Given the description of an element on the screen output the (x, y) to click on. 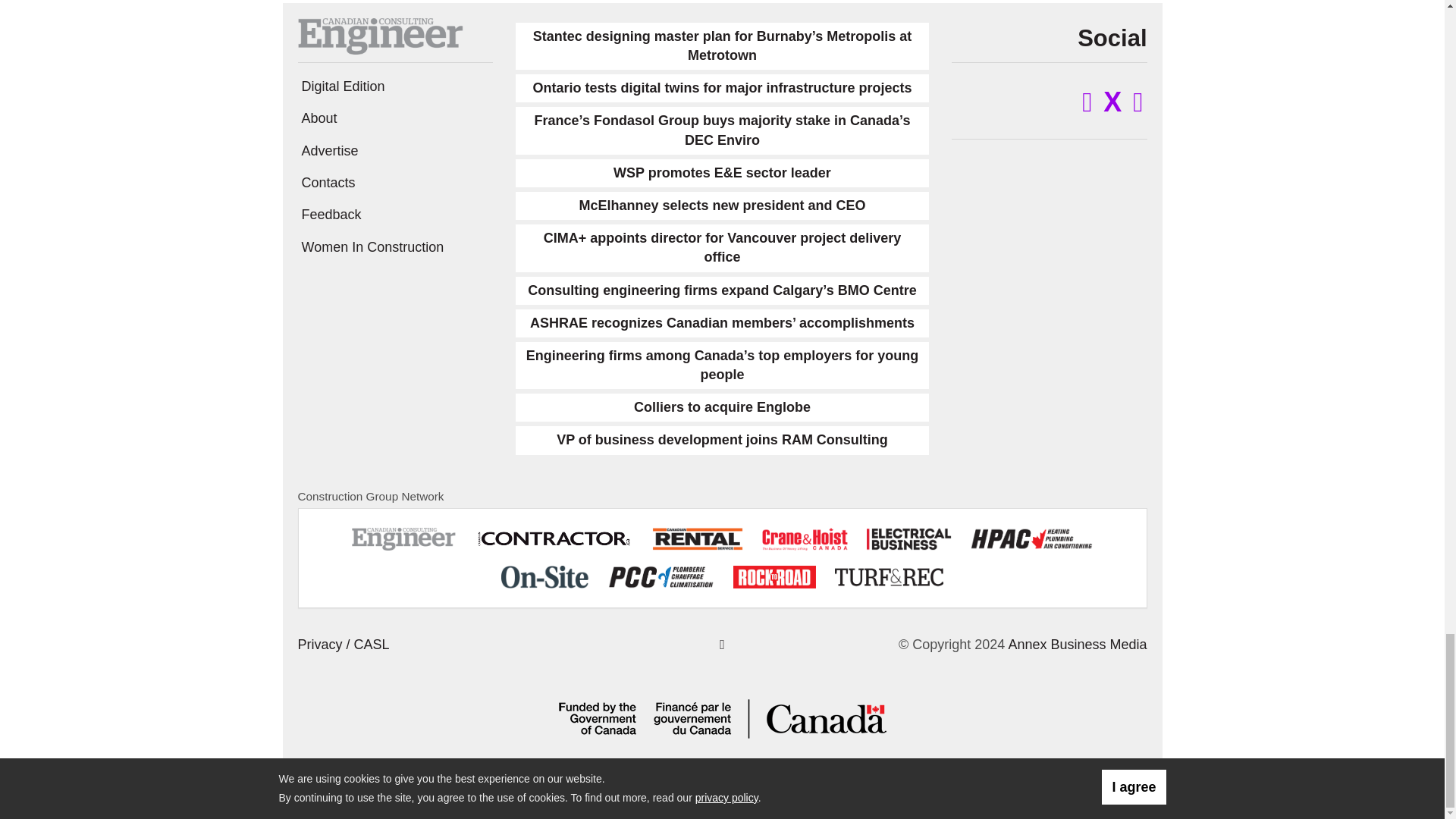
Canadian Consulting Engineer (380, 35)
Annex Business Media (1077, 644)
